Given the description of an element on the screen output the (x, y) to click on. 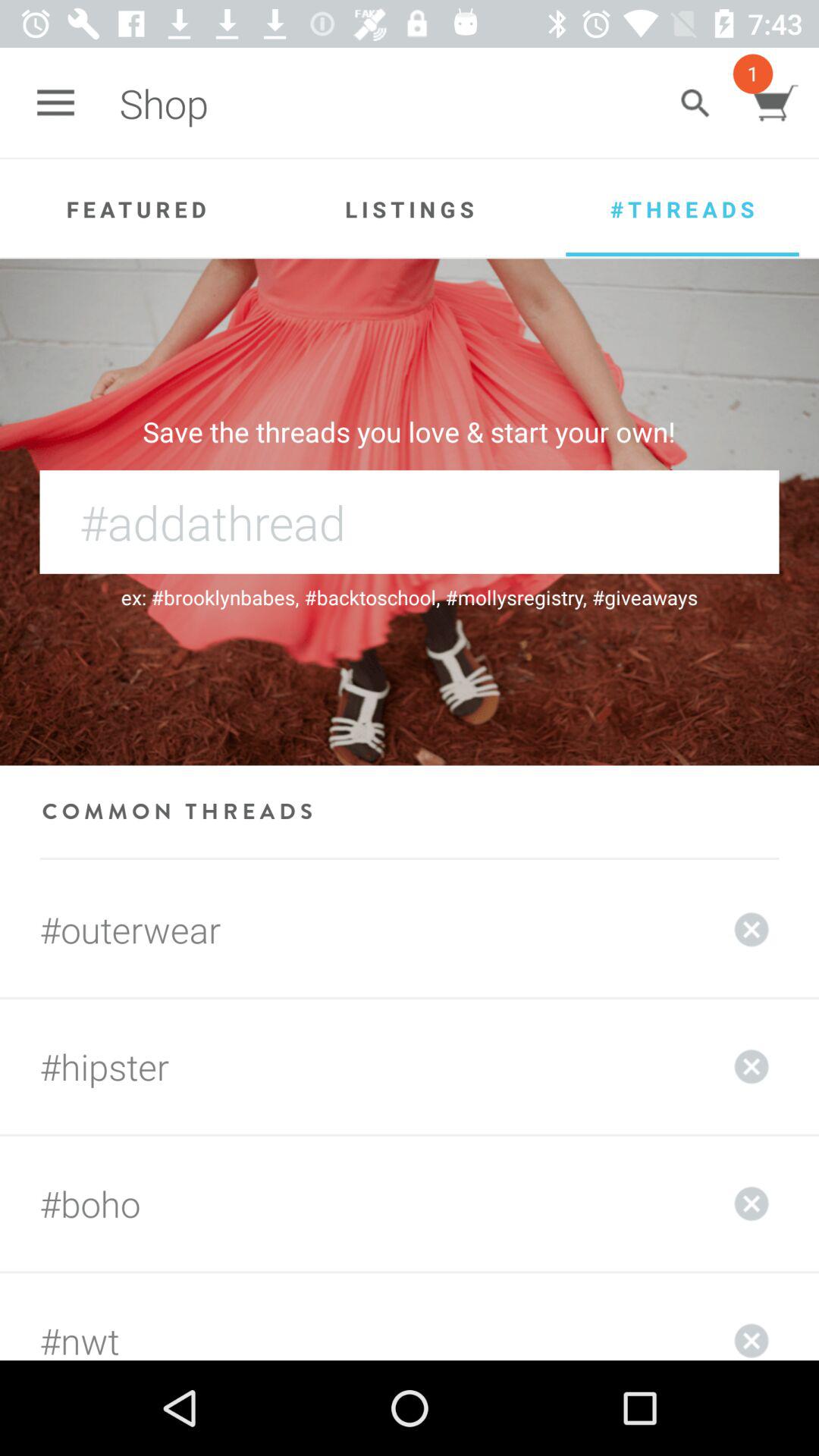
click to the closed (751, 1066)
